Given the description of an element on the screen output the (x, y) to click on. 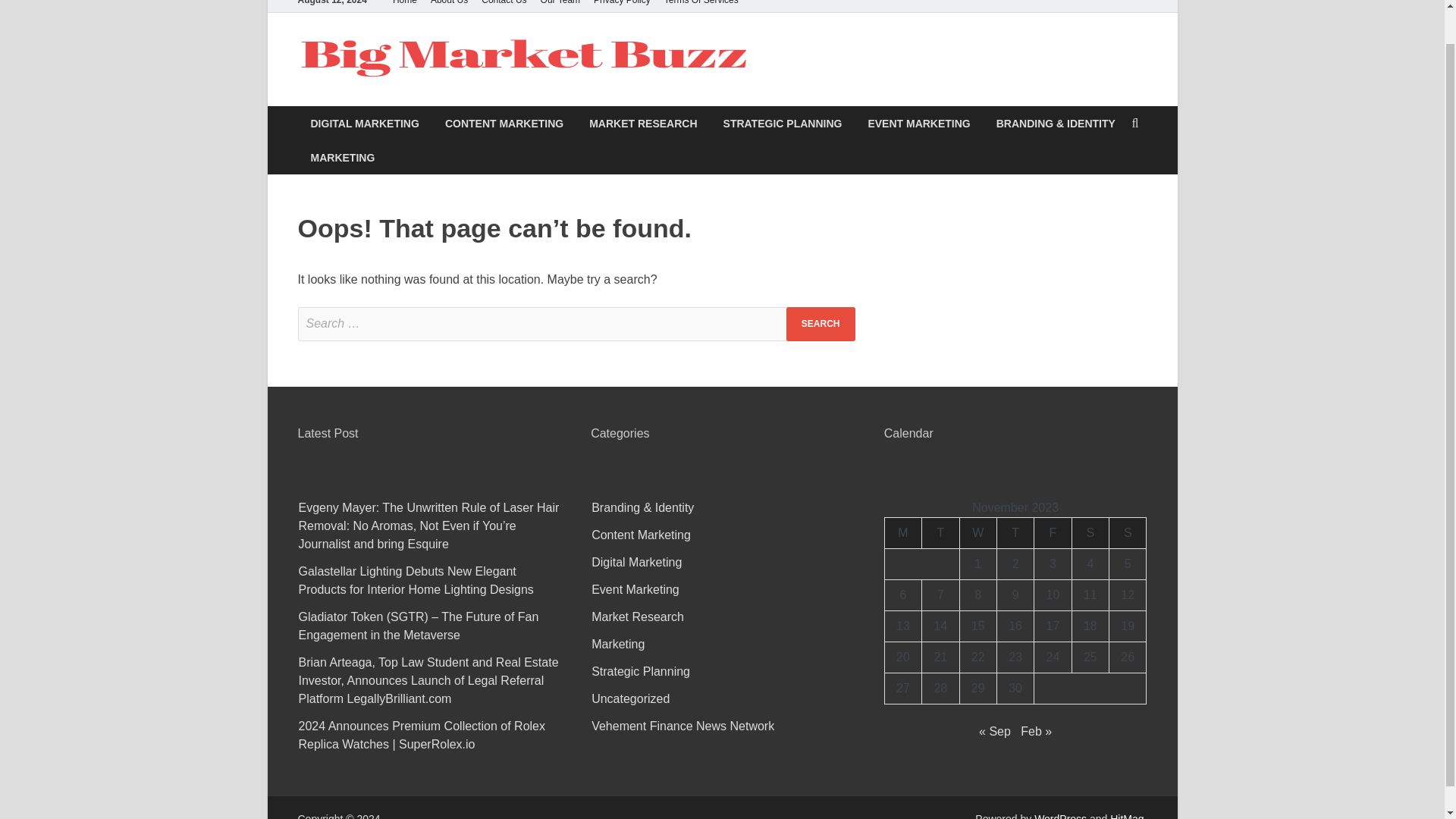
Home (404, 6)
Wednesday (977, 531)
Saturday (1089, 531)
DIGITAL MARKETING (363, 123)
Content Marketing (640, 534)
Sunday (1128, 531)
Search (821, 324)
About Us (448, 6)
